Given the description of an element on the screen output the (x, y) to click on. 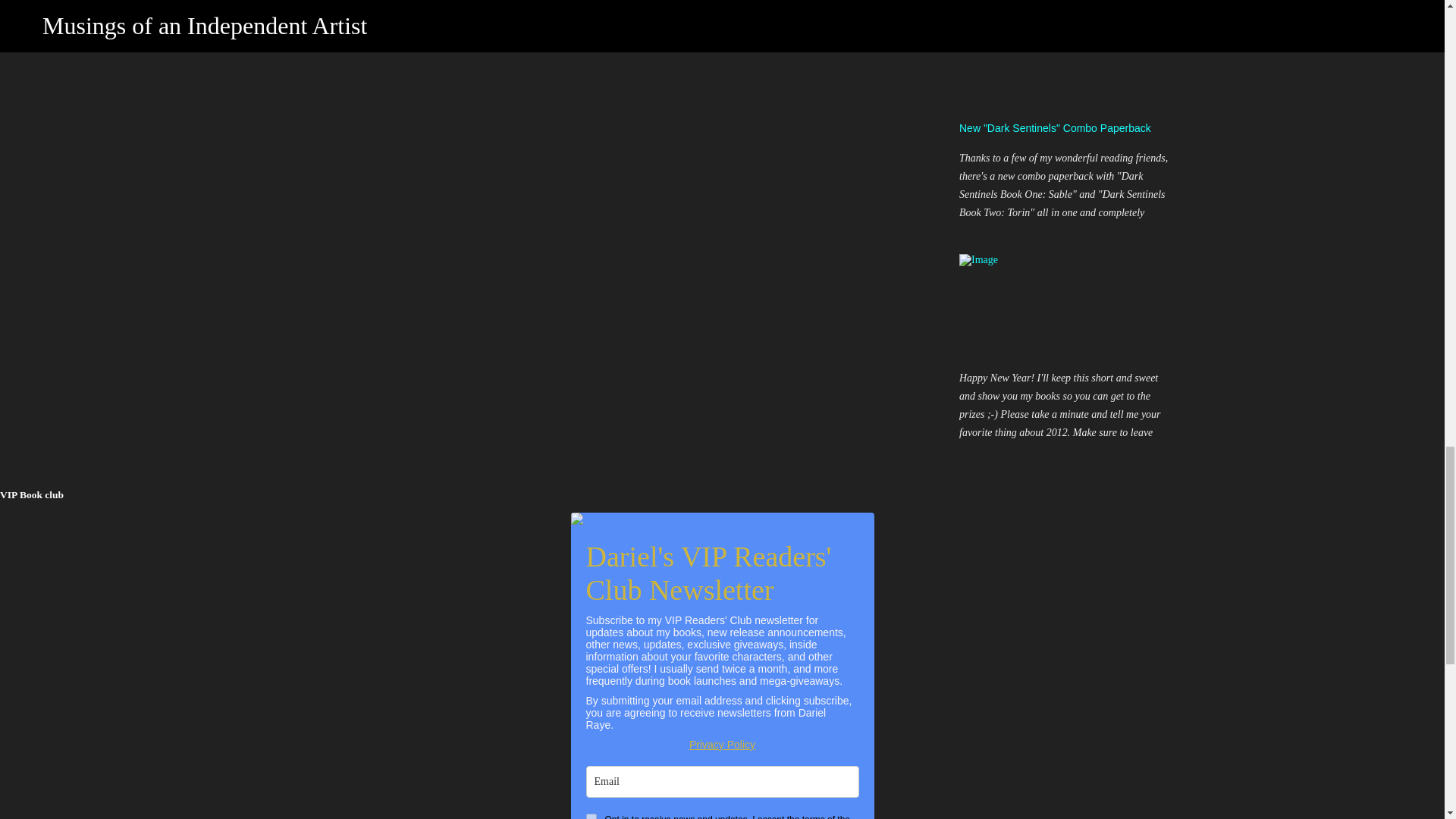
Privacy Policy (721, 744)
New "Dark Sentinels" Combo Paperback (1055, 128)
on (590, 816)
